Given the description of an element on the screen output the (x, y) to click on. 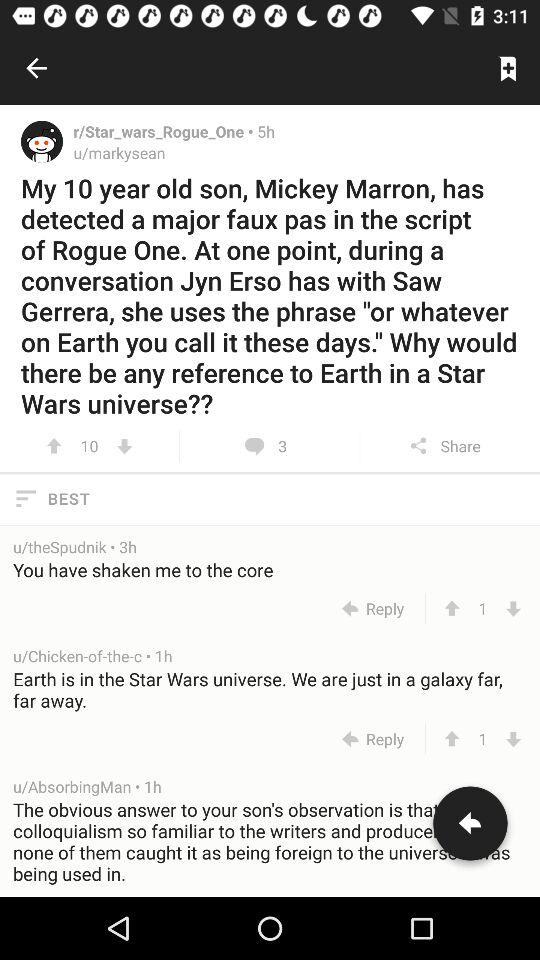
votes the comment down (513, 608)
